Given the description of an element on the screen output the (x, y) to click on. 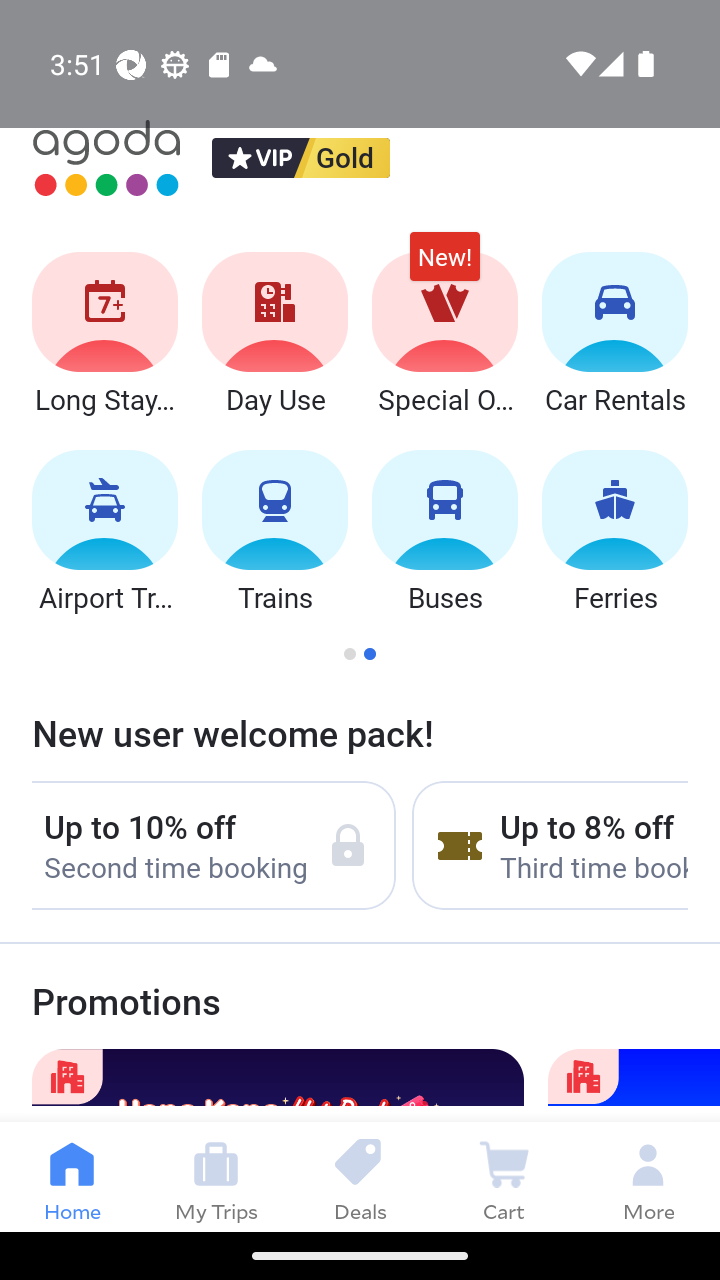
New! (444, 265)
Home (72, 1176)
My Trips (216, 1176)
Deals (360, 1176)
Cart (504, 1176)
More (648, 1176)
